Given the description of an element on the screen output the (x, y) to click on. 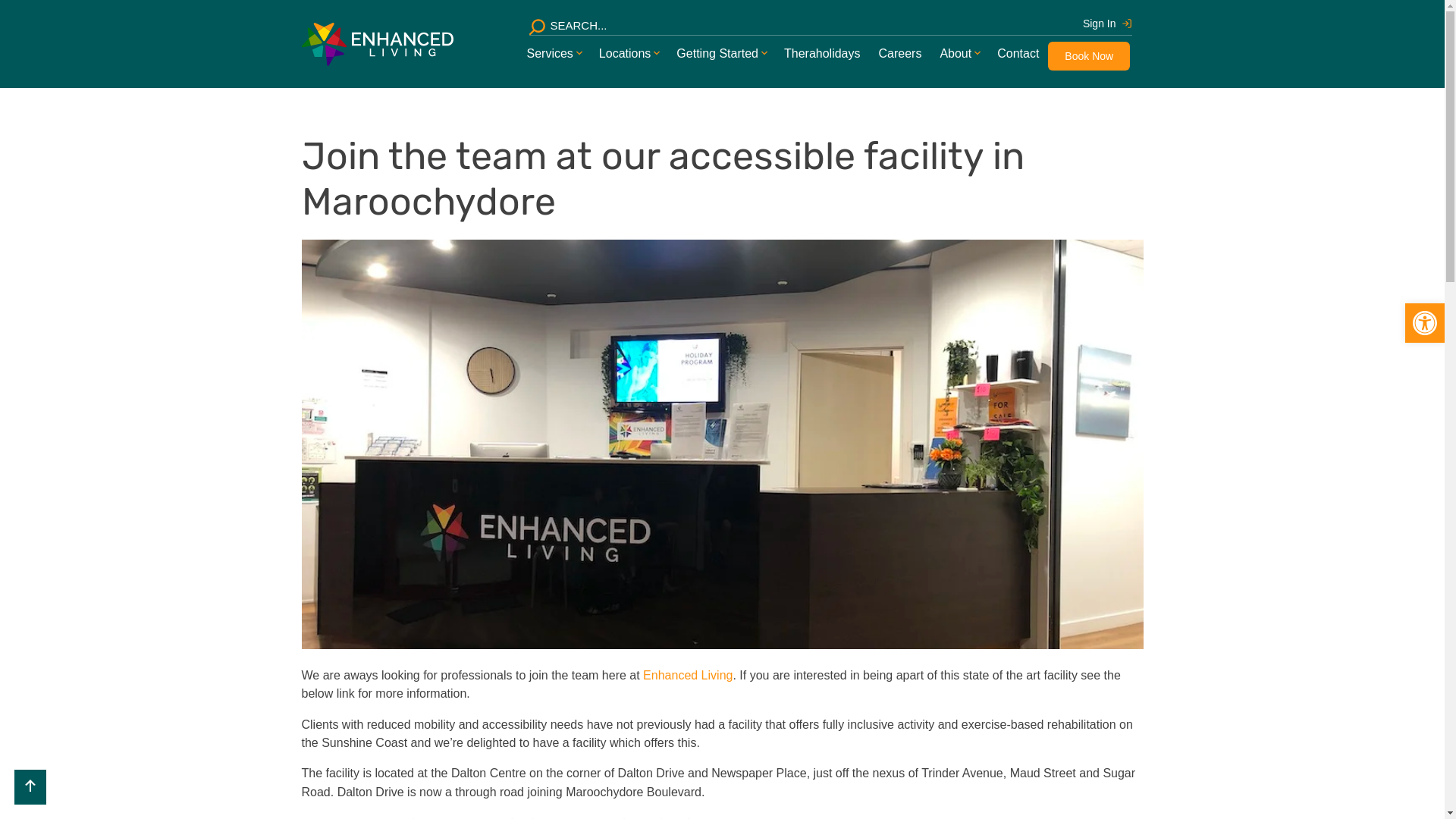
Careers Element type: text (899, 53)
Sign In Element type: text (1107, 23)
Getting Started Element type: text (717, 53)
Theraholidays Element type: text (822, 53)
Open toolbar
Accessibility Tools Element type: text (1424, 322)
About Element type: text (955, 53)
Enhanced Living Element type: text (687, 674)
Contact Element type: text (1018, 53)
Services Element type: text (549, 53)
Book Now Element type: text (1088, 55)
Locations Element type: text (624, 53)
